Given the description of an element on the screen output the (x, y) to click on. 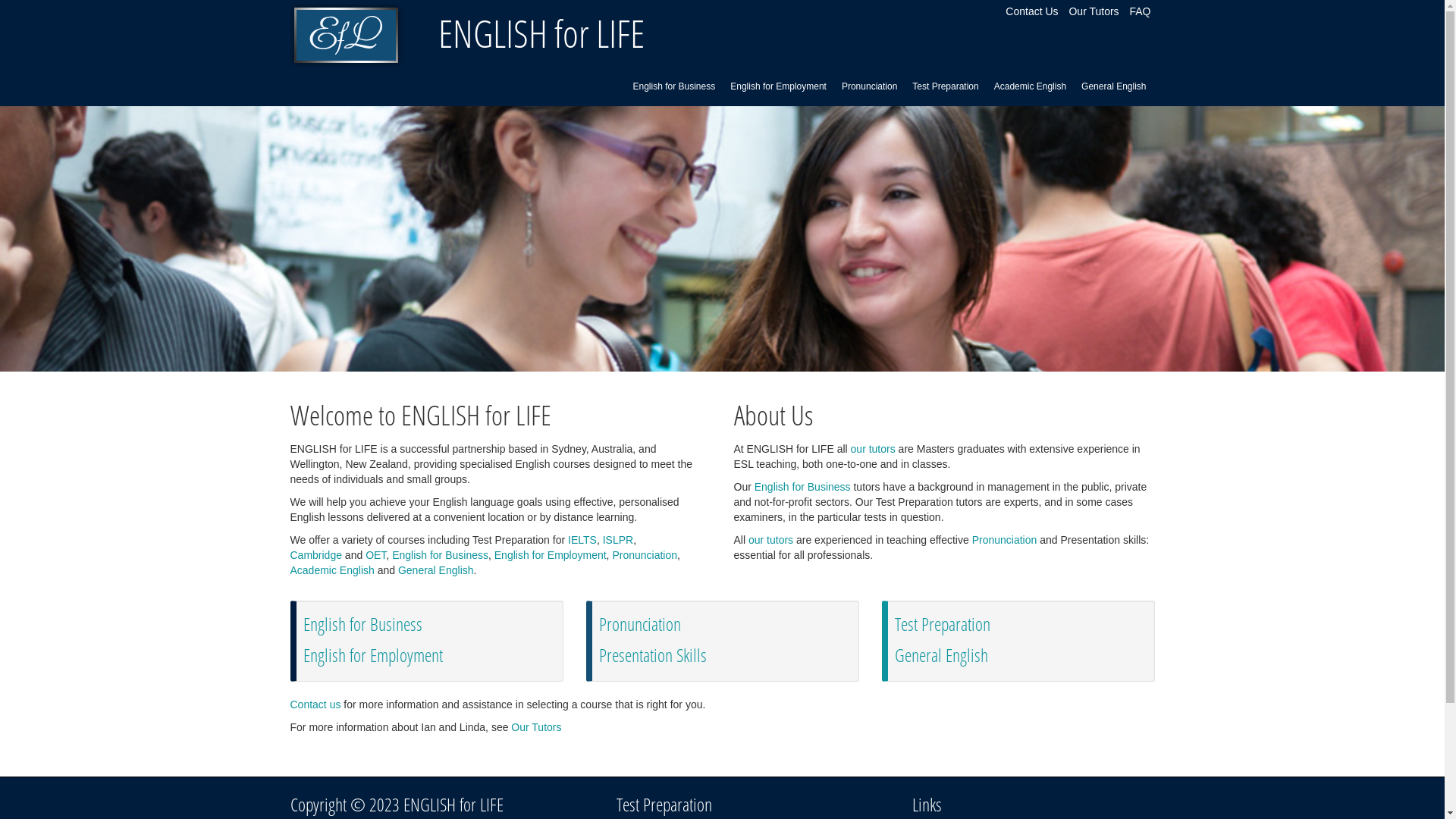
General English Element type: text (1113, 86)
Test Preparation Element type: text (942, 623)
IELTS Element type: text (581, 539)
ENGLISH for LIFE Element type: text (541, 33)
General English Element type: text (941, 654)
English for Business Element type: text (362, 623)
English for Business Element type: text (440, 555)
OET Element type: text (375, 555)
English for Employment Element type: text (778, 86)
General English Element type: text (435, 570)
English for Business Element type: text (802, 486)
Contact Us Element type: text (1031, 11)
Academic English Element type: text (1029, 86)
ENGLISH for LIFE Element type: hover (347, 34)
English for Employment Element type: text (372, 654)
our tutors Element type: text (770, 539)
English for Business Element type: text (673, 86)
Cambridge Element type: text (315, 555)
Pronunciation Element type: text (639, 623)
Our Tutors Element type: text (536, 727)
Pronunciation Element type: text (869, 86)
Contact us Element type: text (314, 704)
FAQ Element type: text (1139, 11)
Pronunciation Element type: text (644, 555)
our tutors Element type: text (872, 448)
Presentation Skills Element type: text (652, 654)
Test Preparation Element type: text (944, 86)
English for Employment Element type: text (550, 555)
Our Tutors Element type: text (1093, 11)
Academic English Element type: text (331, 570)
Pronunciation Element type: text (1004, 539)
ISLPR Element type: text (617, 539)
